Given the description of an element on the screen output the (x, y) to click on. 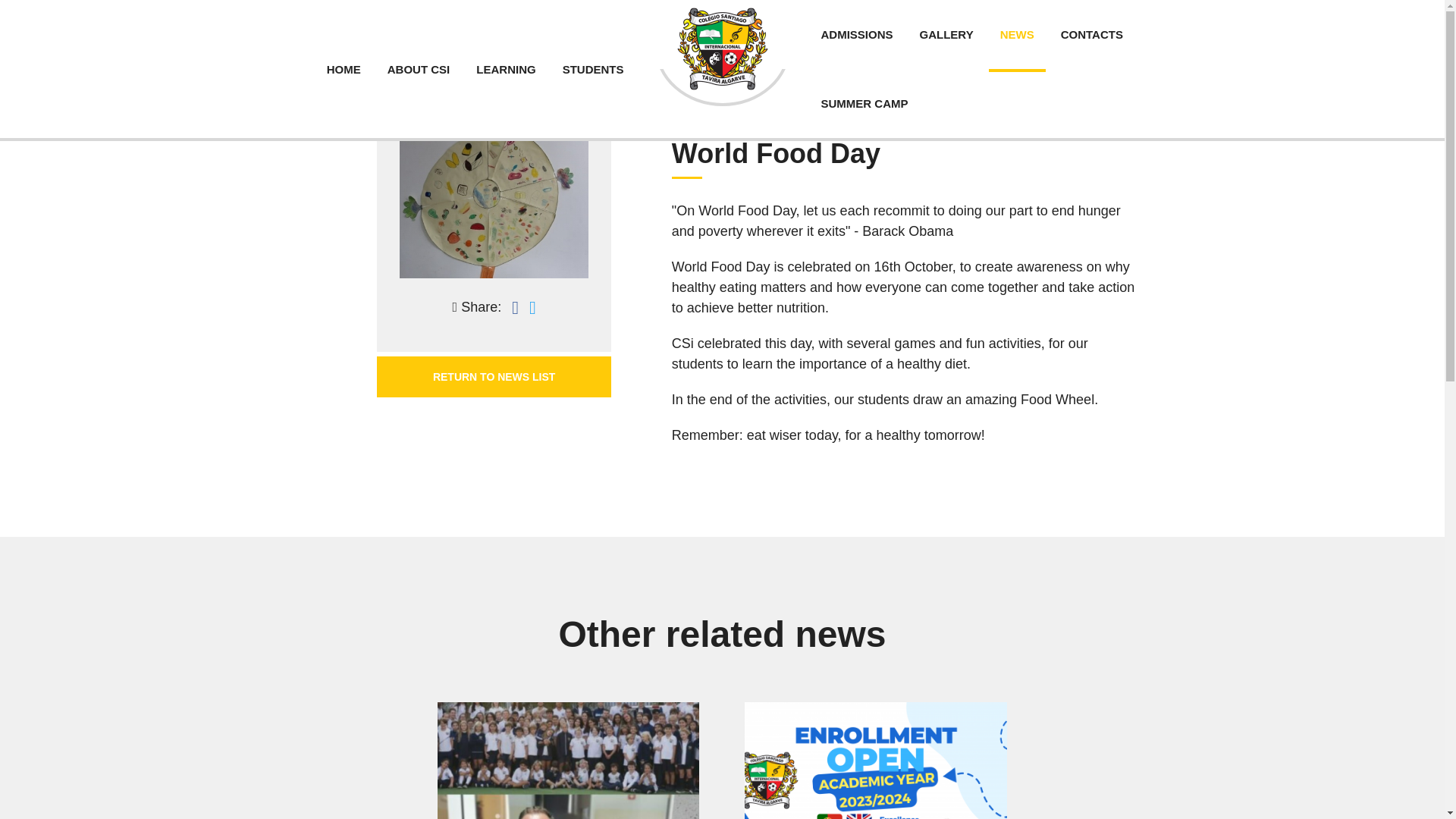
GALLERY (946, 34)
LEARNING (505, 66)
CONTACTS (1091, 34)
ADMISSIONS (856, 34)
STUDENTS (592, 68)
